Given the description of an element on the screen output the (x, y) to click on. 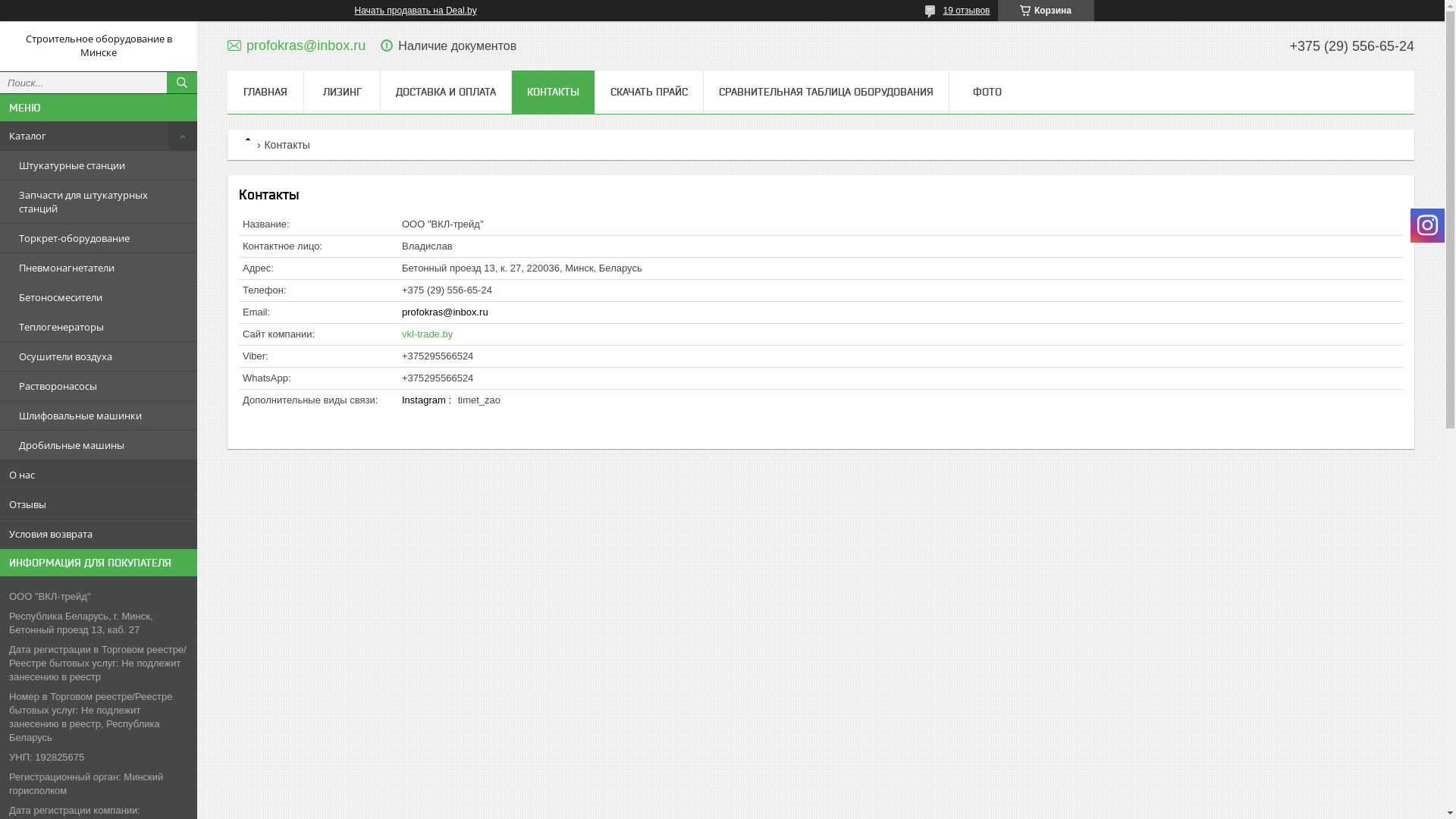
profokras@inbox.ru Element type: text (296, 45)
vkl-trade.by Element type: text (426, 333)
profokras@inbox.ru Element type: text (444, 311)
